Given the description of an element on the screen output the (x, y) to click on. 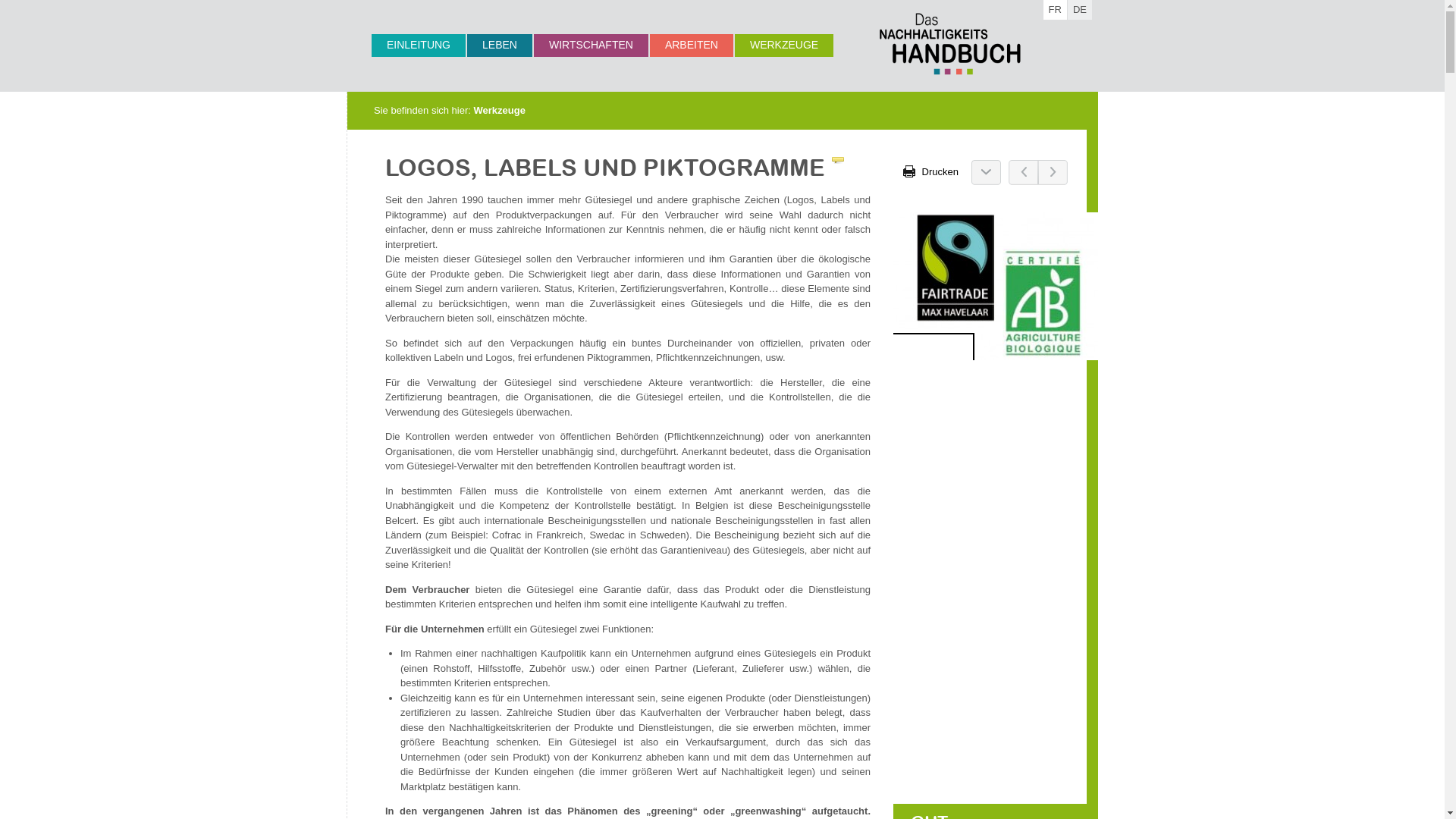
FR Element type: text (1054, 9)
ARBEITEN Element type: text (691, 45)
WERKZEUGE Element type: text (783, 45)
LEBEN Element type: text (499, 45)
DE Element type: text (1079, 9)
EINLEITUNG Element type: text (418, 45)
LOGOS, LABELS UND PIKTOGRAMME Element type: text (614, 167)
Zum Seitenende Element type: hover (986, 171)
Drucken Element type: text (930, 170)
WIRTSCHAFTEN Element type: text (590, 45)
Werkzeuge Element type: text (499, 110)
Vorheriges Kapitel Element type: hover (1023, 171)
Nachhaltigkeits-Handbuch Element type: text (950, 43)
